Given the description of an element on the screen output the (x, y) to click on. 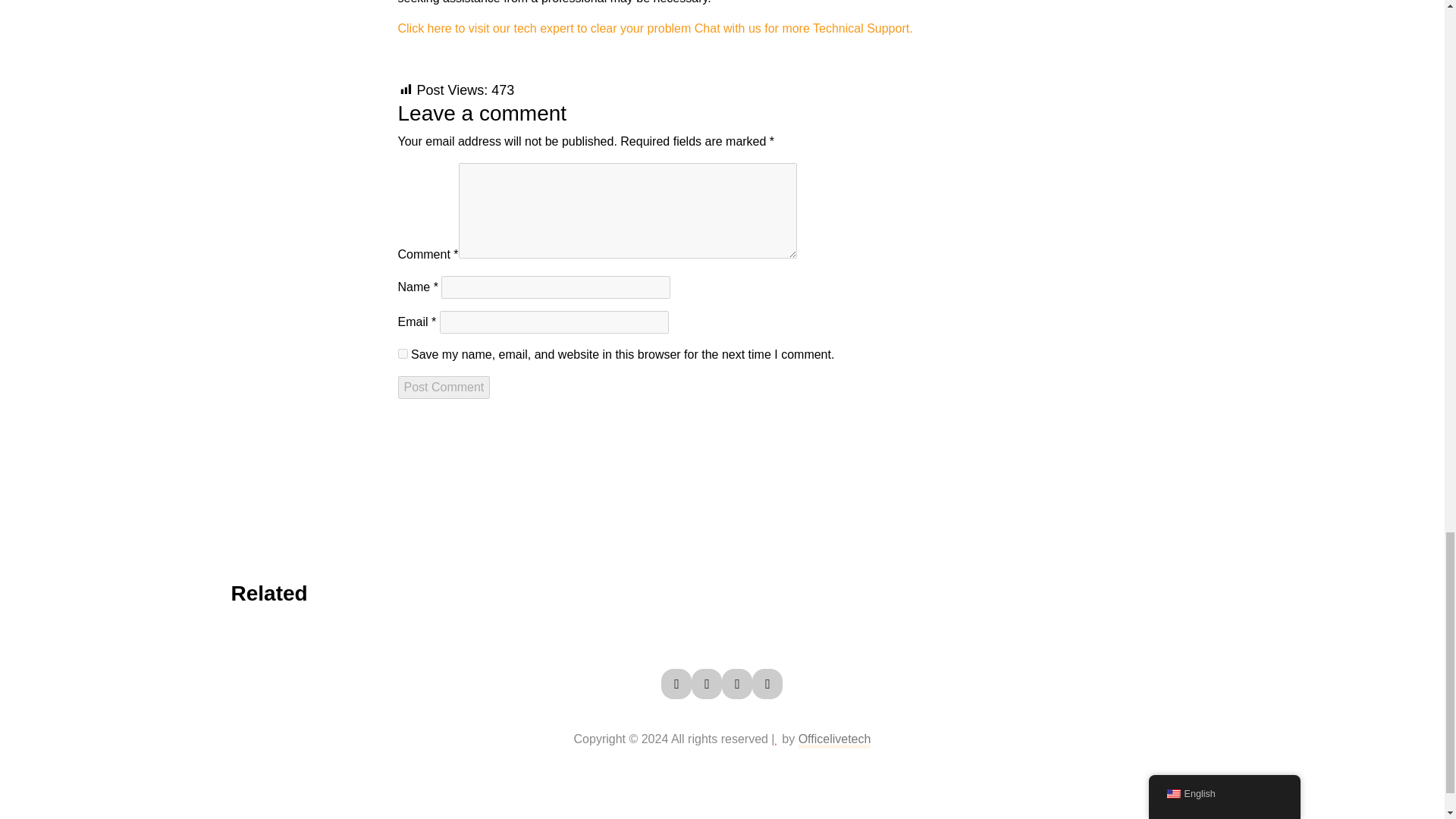
Post Comment (443, 386)
Officelivetech (833, 739)
Post Comment (443, 386)
yes (402, 353)
